Given the description of an element on the screen output the (x, y) to click on. 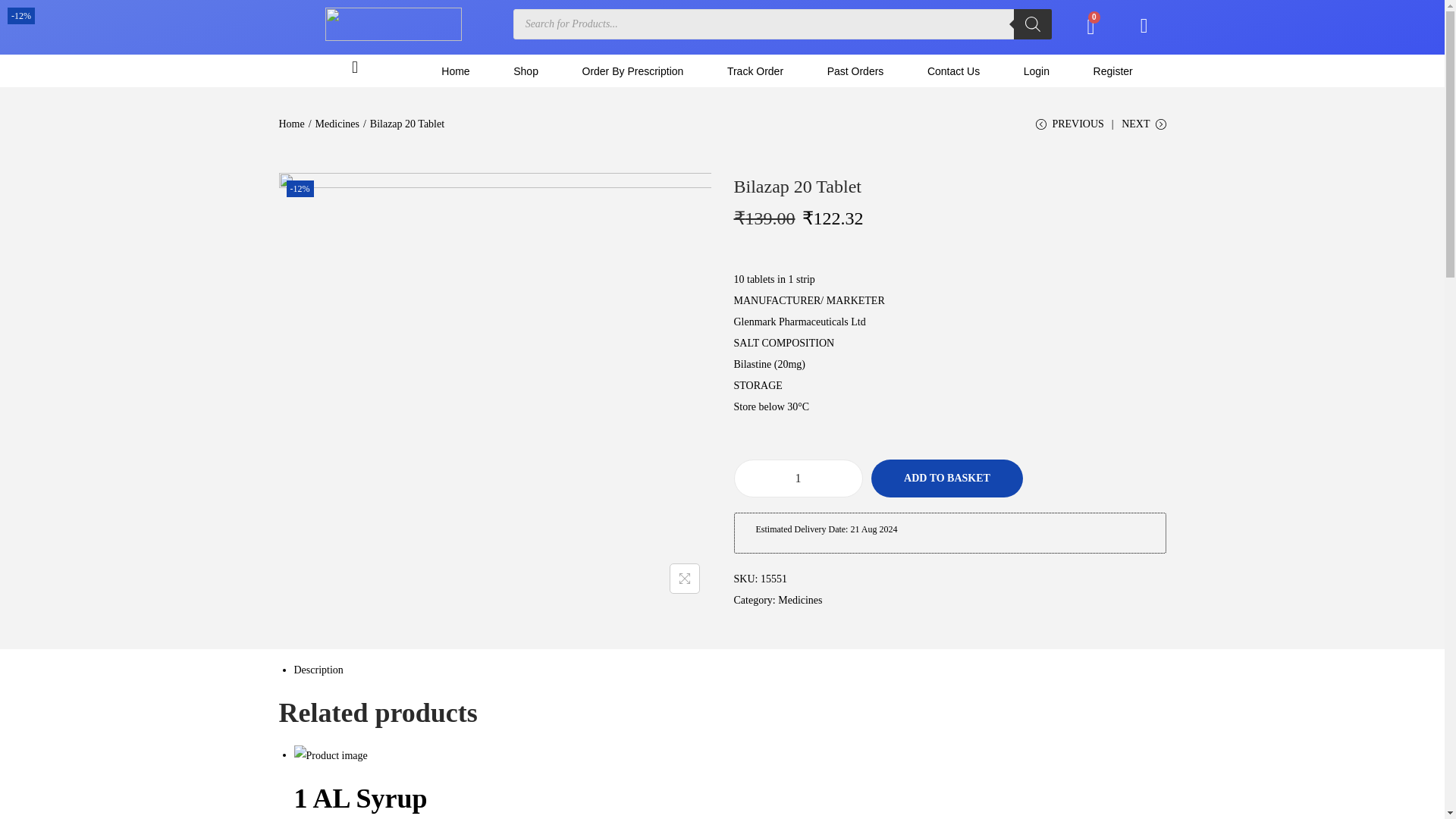
Past Orders (855, 69)
0 (1090, 26)
Order By Prescription (632, 69)
Track Order (754, 69)
Login (1036, 69)
Shop (525, 69)
Contact Us (953, 69)
Register (1112, 69)
Home (456, 69)
1 (797, 477)
